Given the description of an element on the screen output the (x, y) to click on. 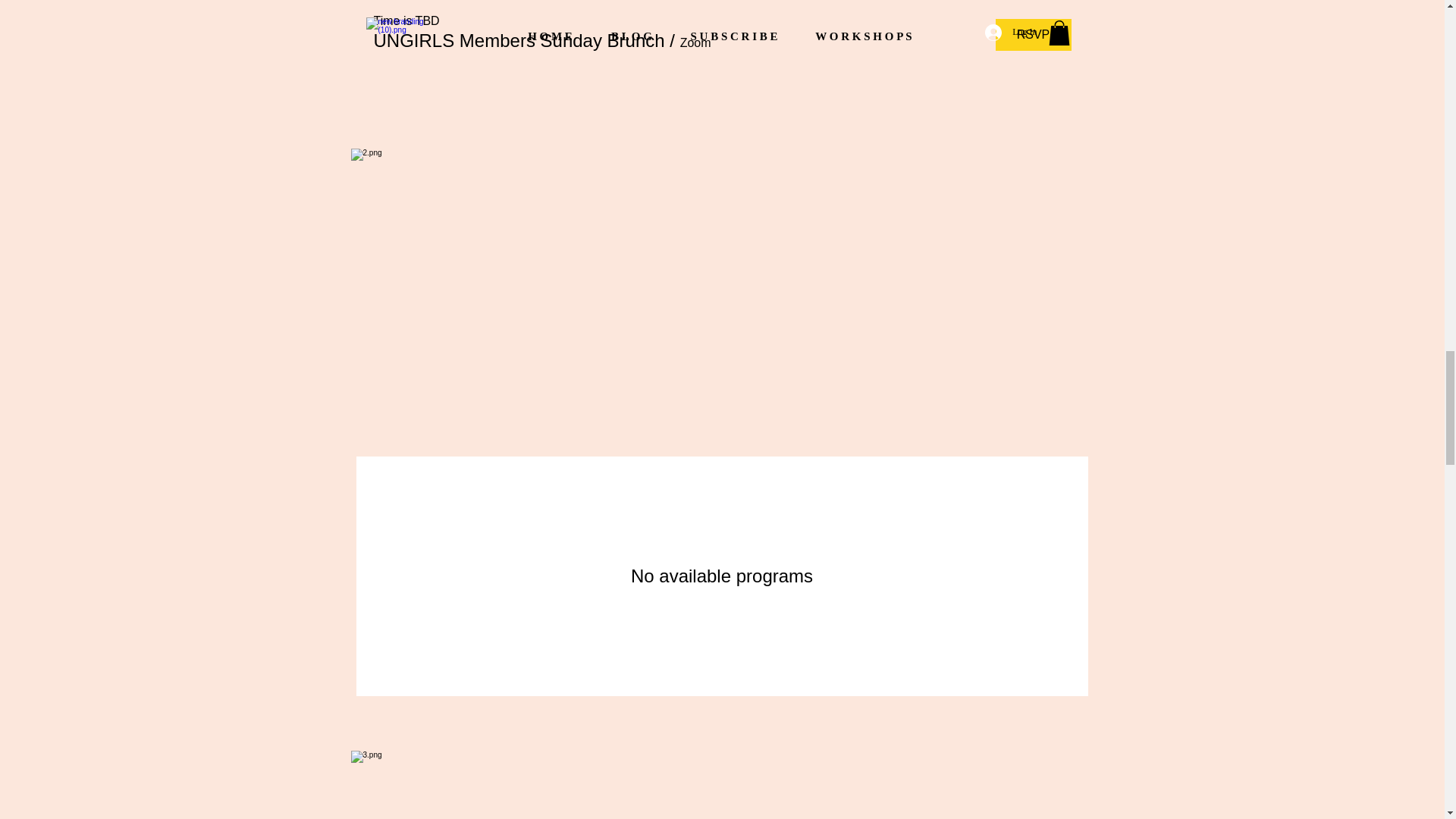
RSVP (1032, 34)
